Given the description of an element on the screen output the (x, y) to click on. 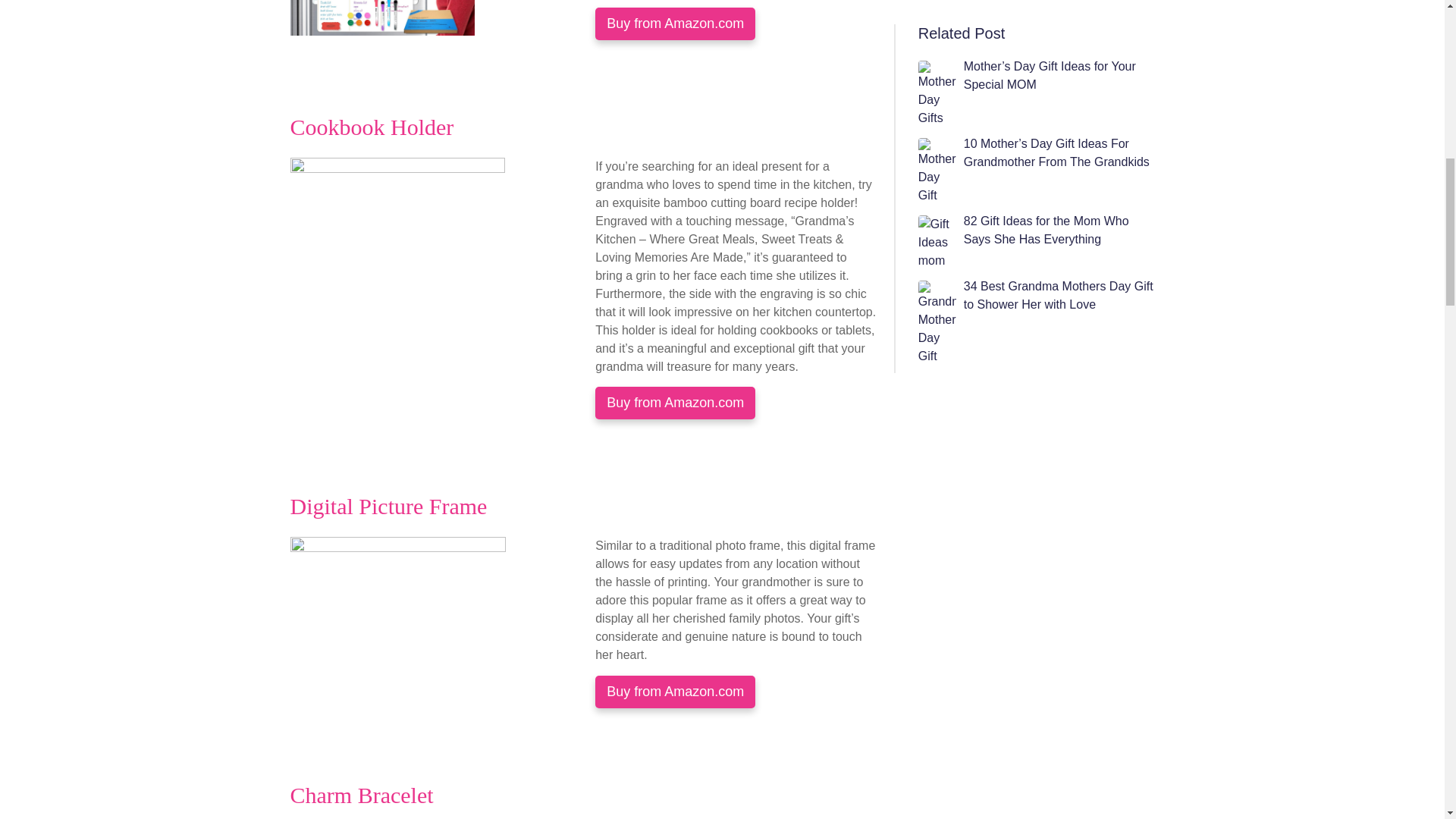
Buy from Amazon.com (675, 402)
Buy from Amazon.com (675, 23)
Buy from Amazon.com (675, 691)
